Given the description of an element on the screen output the (x, y) to click on. 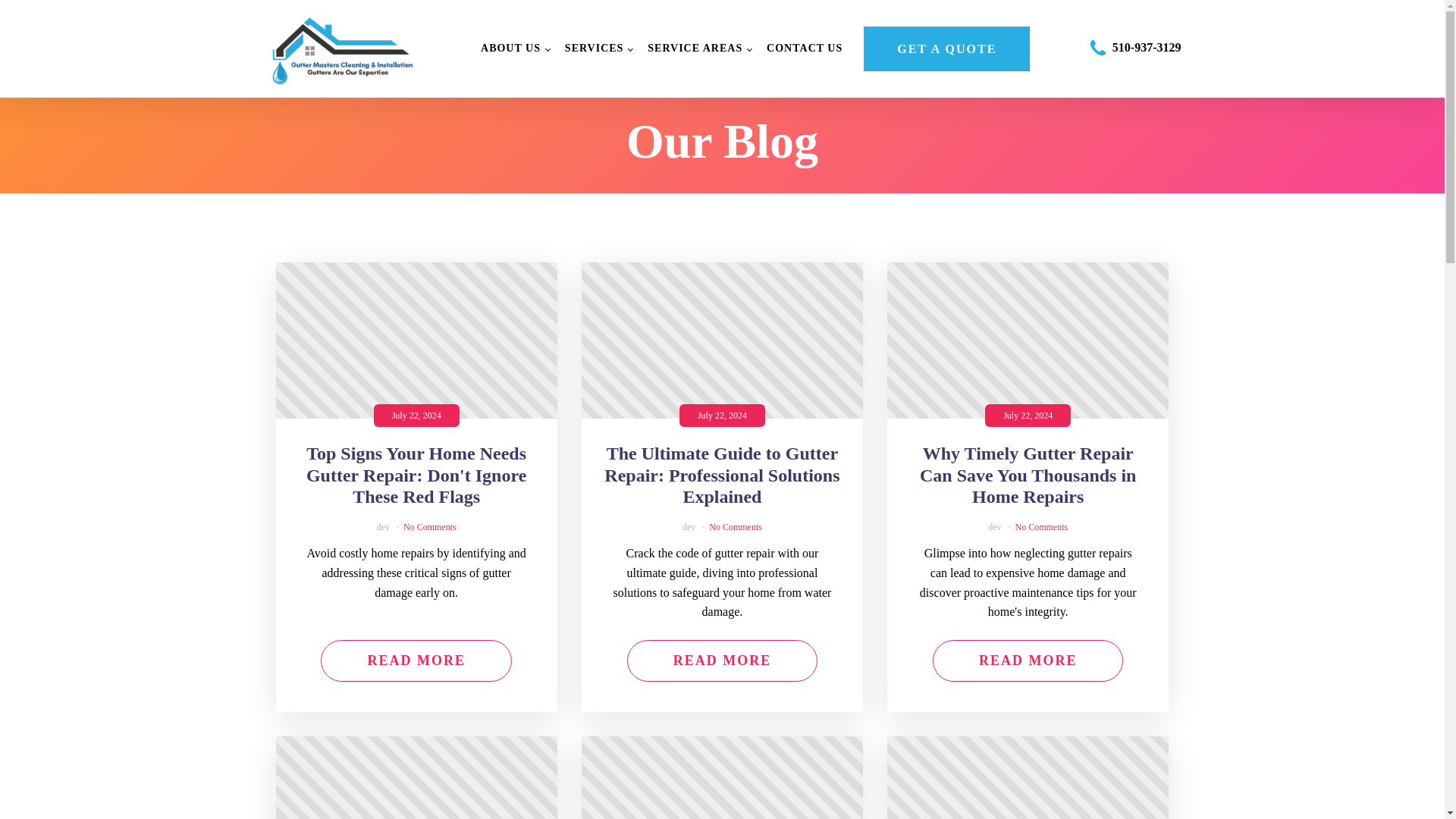
July 22, 2024 (1027, 340)
GET A QUOTE (946, 48)
CONTACT US (804, 48)
July 22, 2024 (416, 340)
510-937-3129 (1146, 47)
July 22, 2024 (416, 777)
READ MORE (416, 660)
READ MORE (722, 660)
No Comments (430, 526)
No Comments (735, 526)
ABOUT US (515, 48)
No Comments (1041, 526)
